Given the description of an element on the screen output the (x, y) to click on. 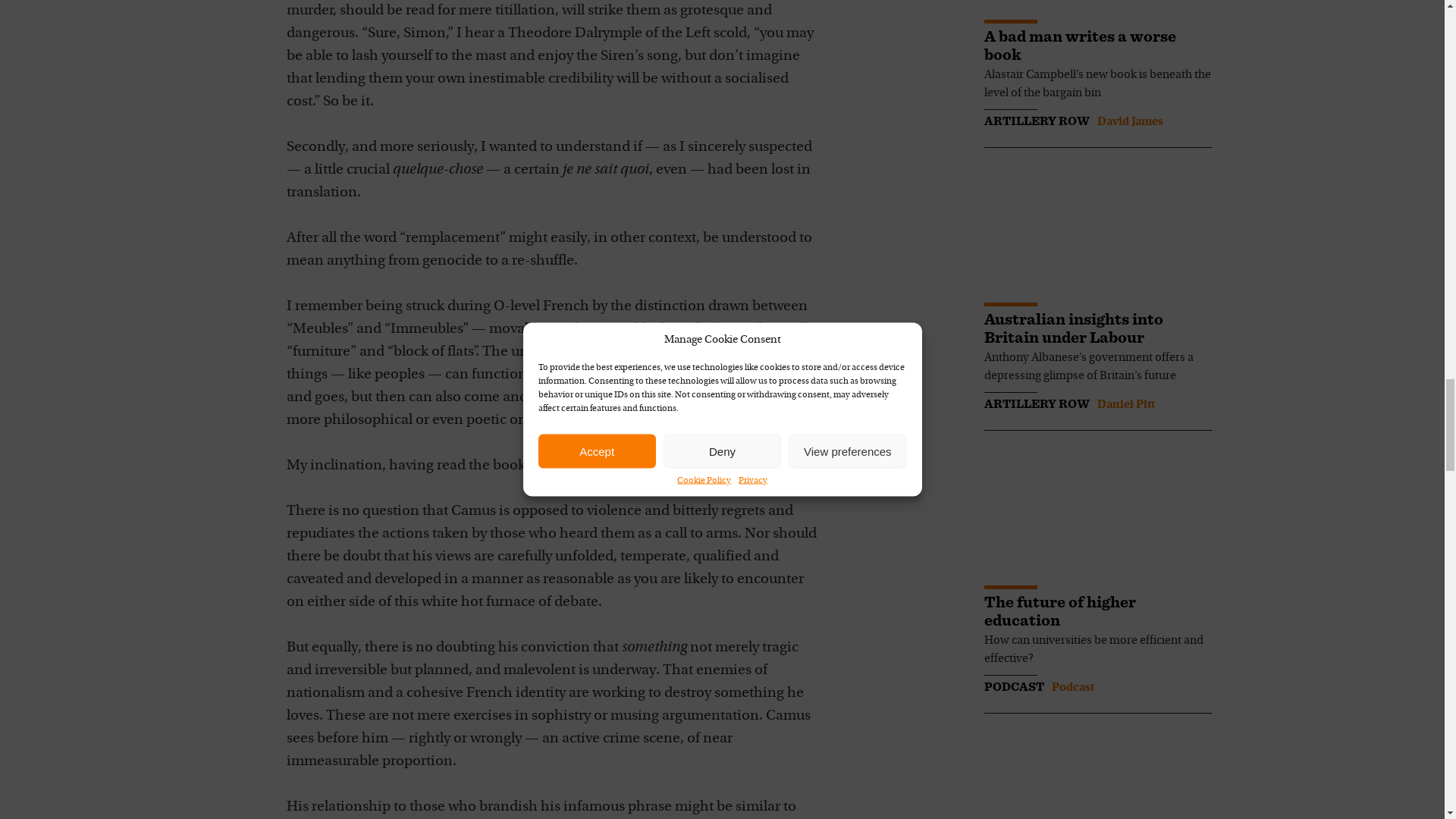
Posts by Podcast (1072, 687)
Posts by David James (1128, 121)
Posts by Daniel Pitt (1125, 404)
